Given the description of an element on the screen output the (x, y) to click on. 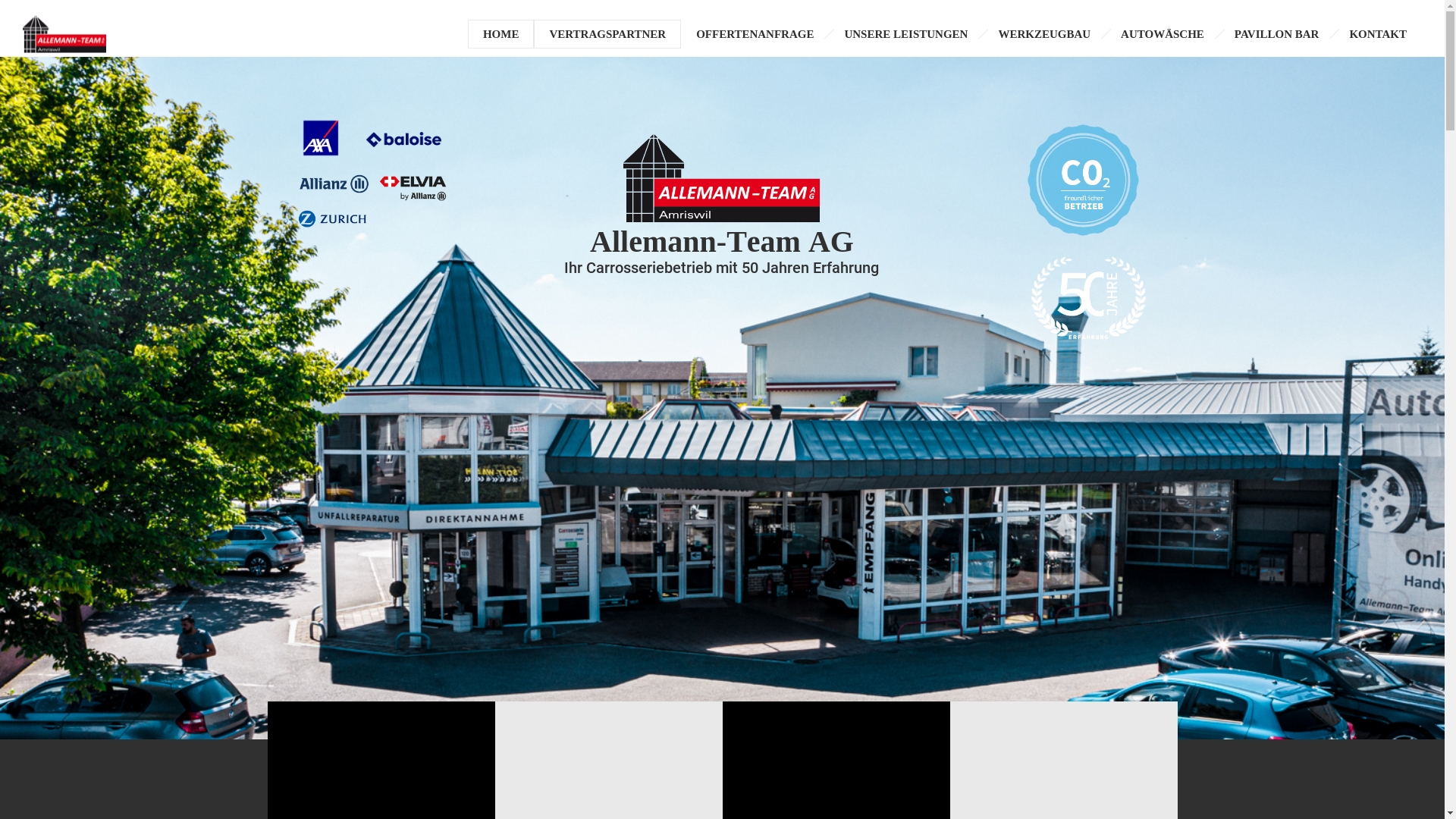
Home Element type: text (433, 724)
Werkzeugbau Element type: text (786, 724)
UNSERE LEISTUNGEN Element type: text (905, 34)
VERTRAGSPARTNER Element type: text (606, 34)
HOME Element type: text (500, 34)
Kontakt Element type: text (1005, 724)
PAVILLON BAR Element type: text (1276, 34)
Unsere Leistungen Element type: text (694, 724)
WERKZEUGBAU Element type: text (1043, 34)
Offertenanfrage Element type: text (597, 724)
KONTAKT Element type: text (1377, 34)
Vertragspartner Element type: text (503, 724)
Pavillon Bar Element type: text (939, 724)
Impressum Element type: text (827, 764)
Facebook Element type: hover (721, 668)
OFFERTENANFRAGE Element type: text (754, 34)
werbeleute Element type: text (705, 764)
Datenschutz Element type: text (767, 764)
